Given the description of an element on the screen output the (x, y) to click on. 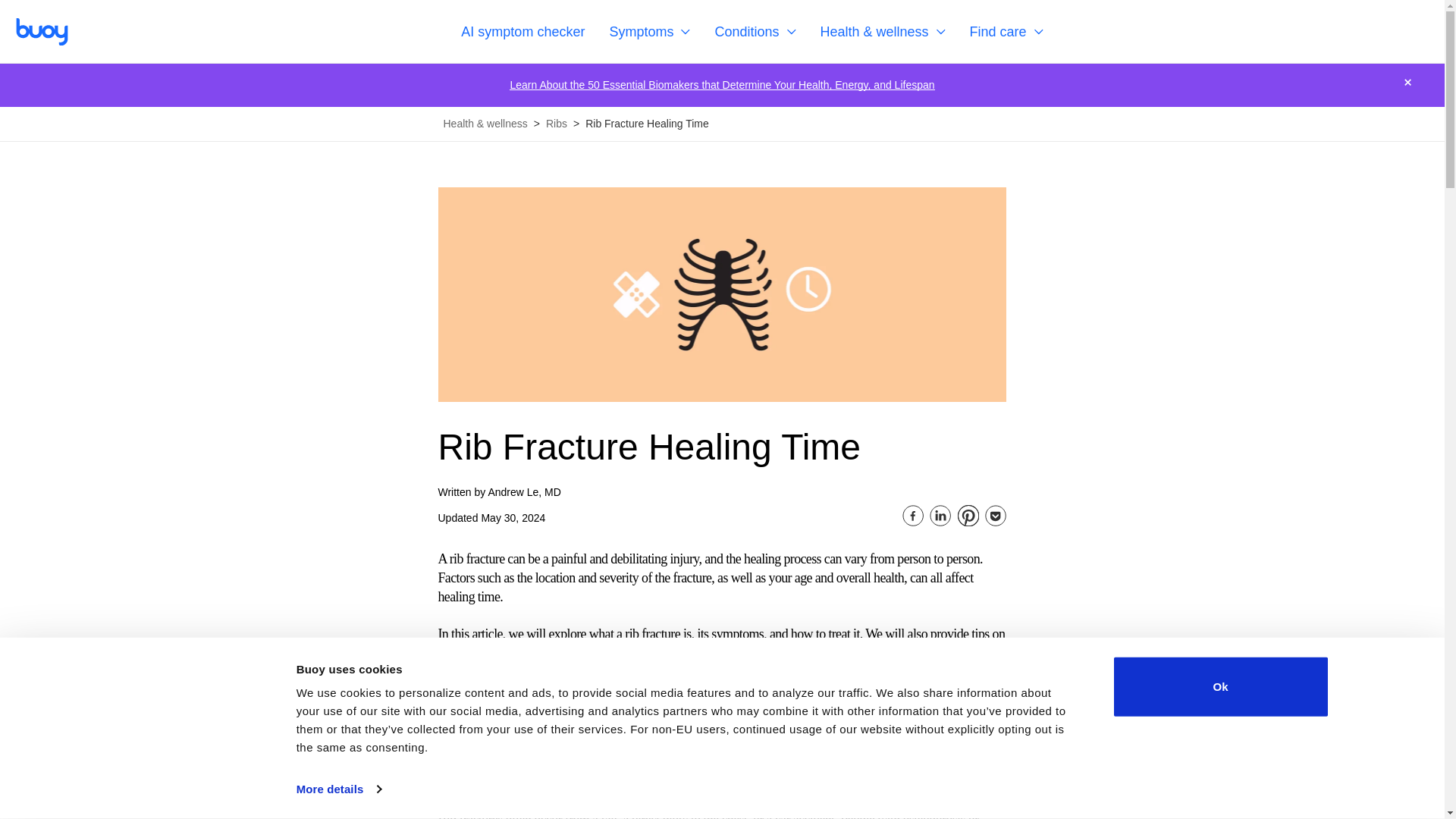
More details (339, 789)
